Given the description of an element on the screen output the (x, y) to click on. 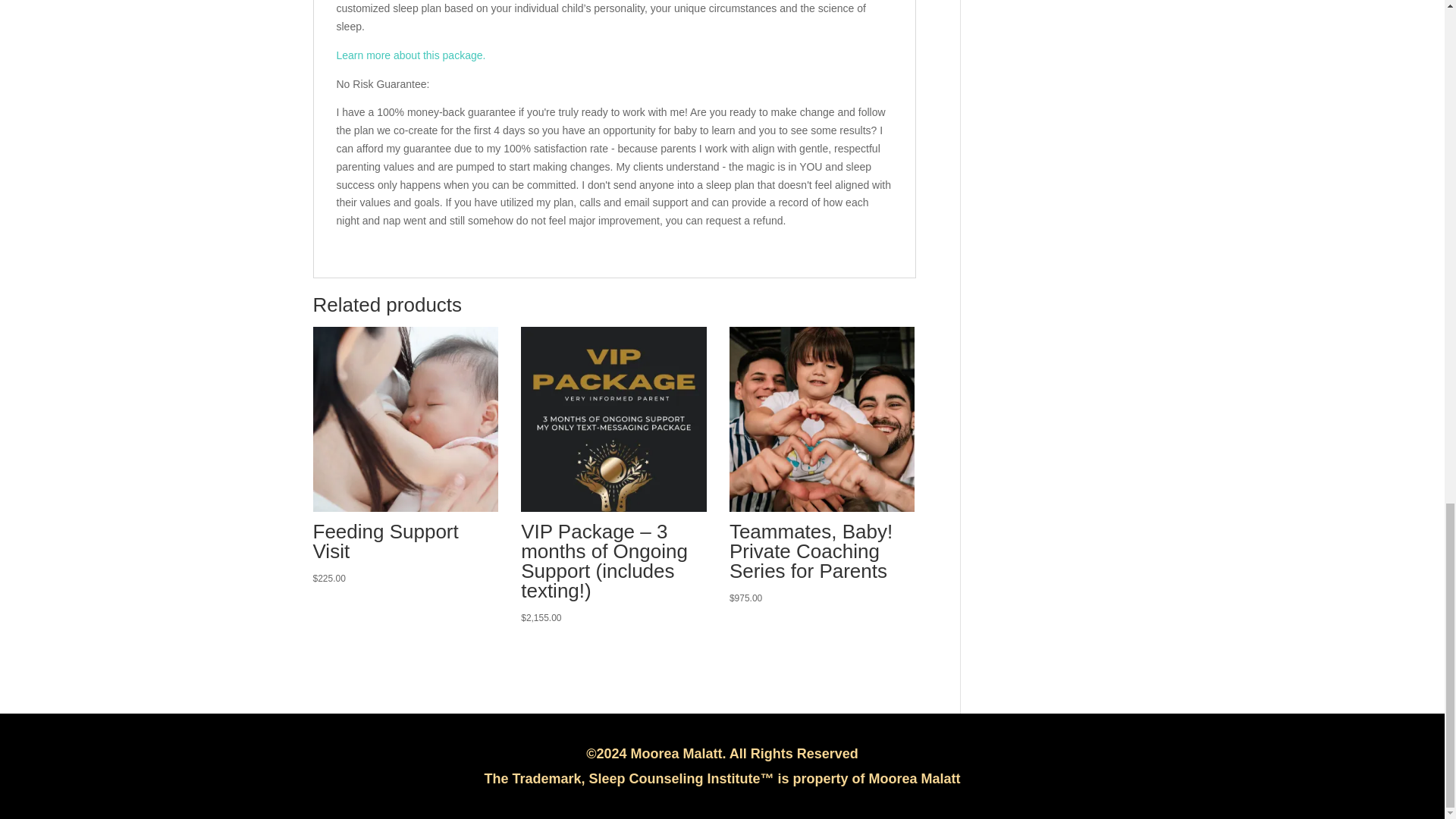
Learn more about this package. (411, 55)
